Given the description of an element on the screen output the (x, y) to click on. 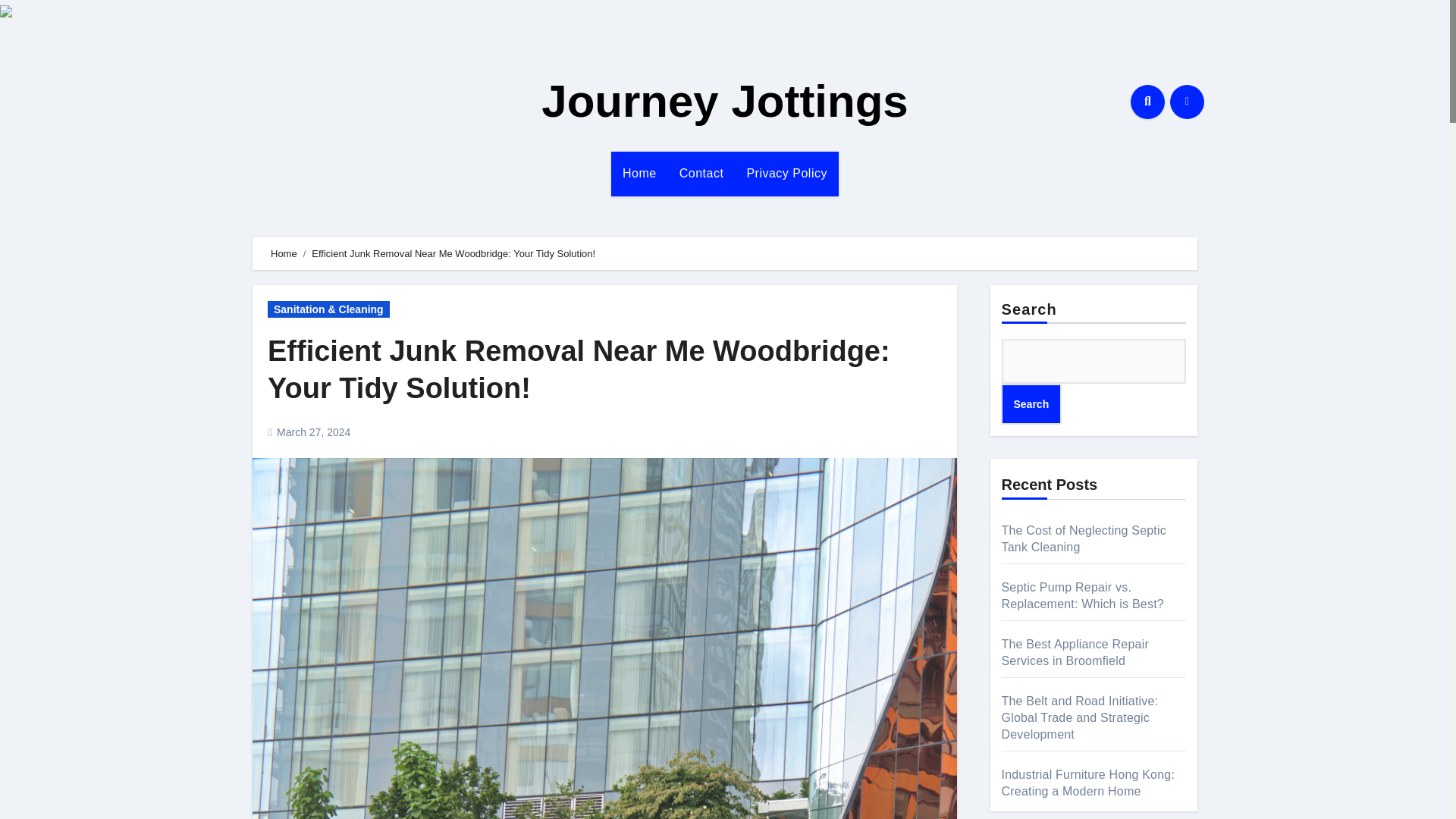
Journey Jottings (724, 101)
Privacy Policy (786, 173)
March 27, 2024 (313, 431)
Contact (701, 173)
Home (639, 173)
Home (283, 253)
Home (639, 173)
